Given the description of an element on the screen output the (x, y) to click on. 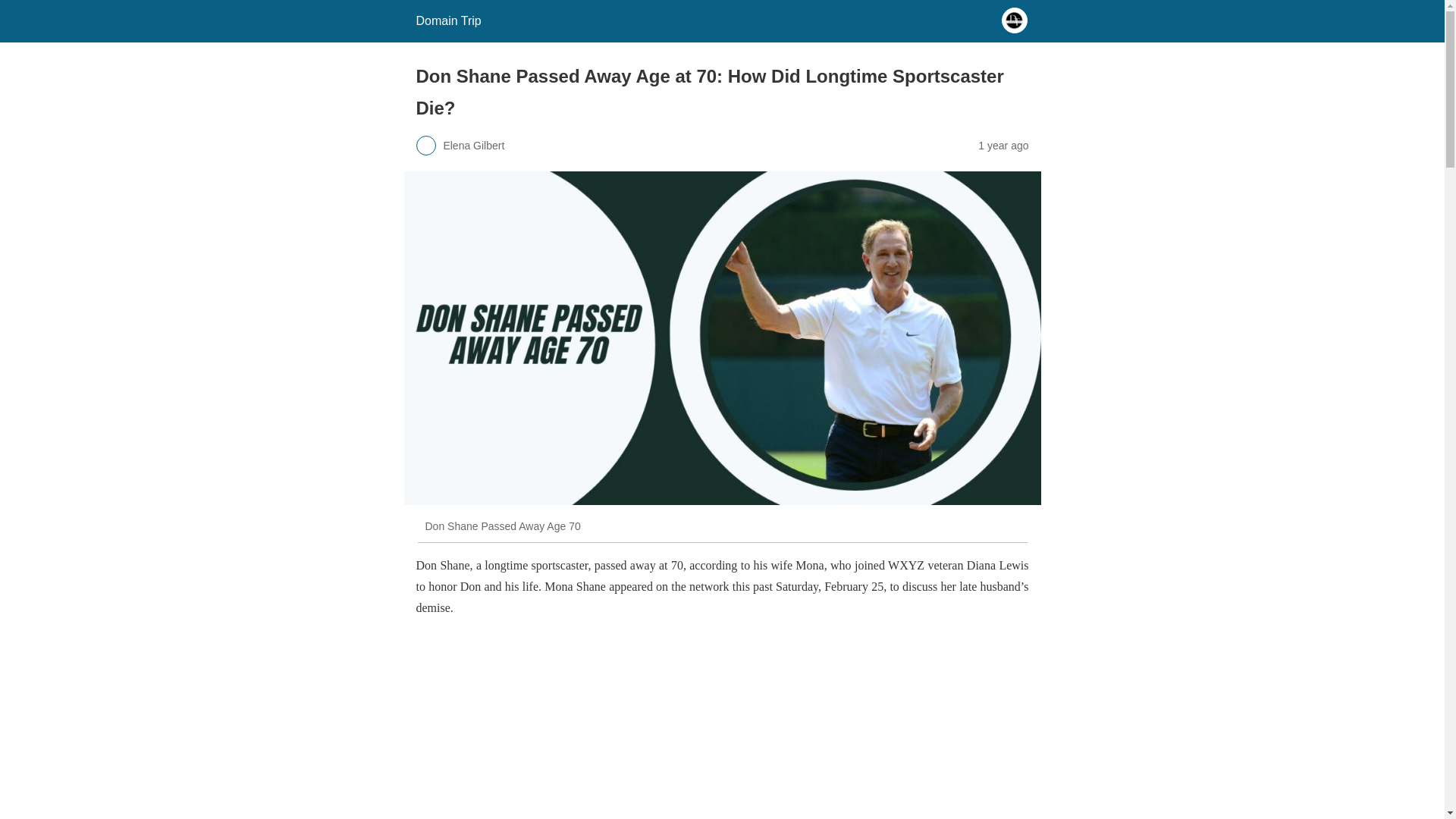
3rd party ad content (721, 724)
Domain Trip (447, 20)
